Given the description of an element on the screen output the (x, y) to click on. 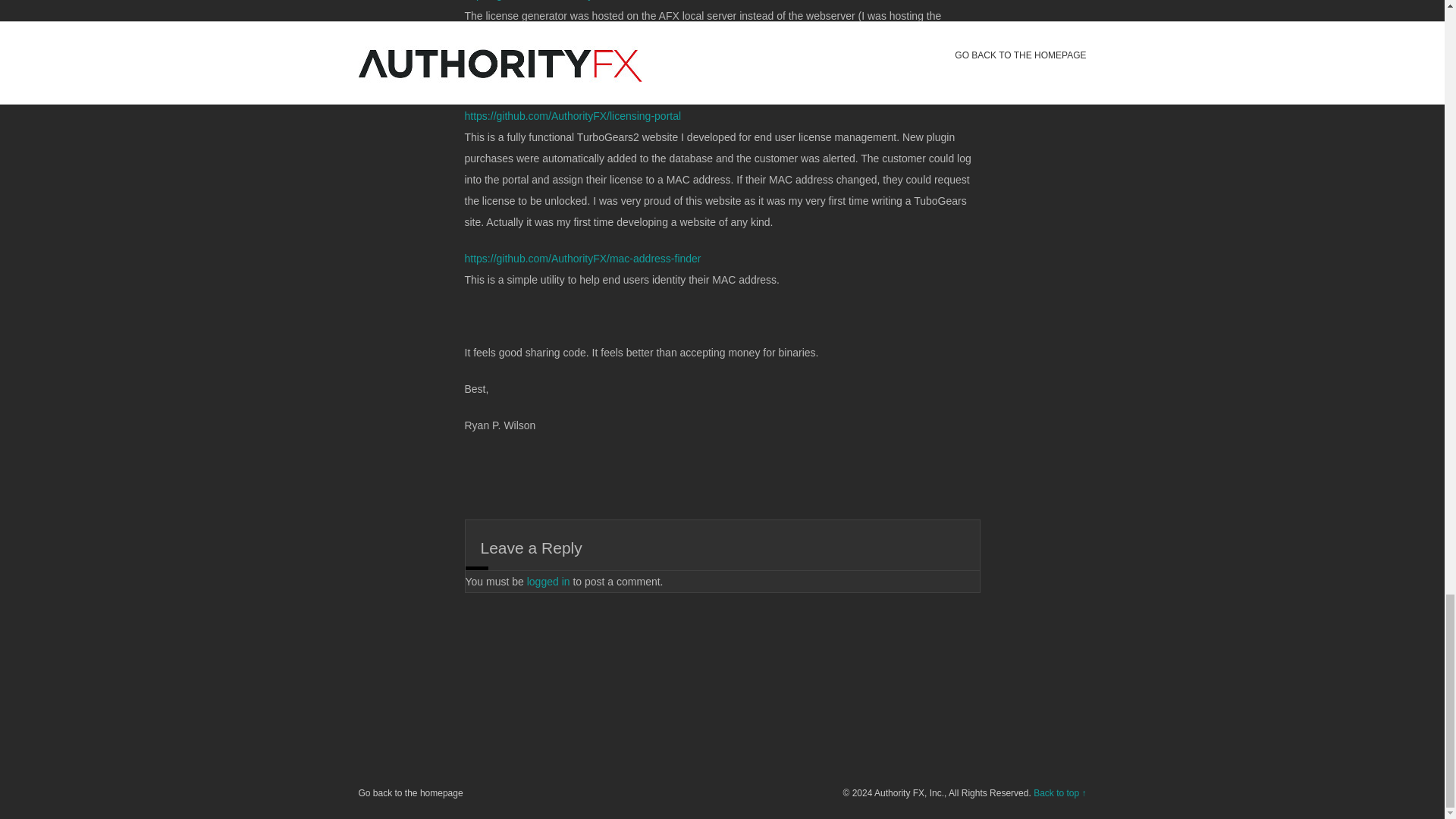
Go back to the homepage (410, 792)
logged in (548, 579)
